Given the description of an element on the screen output the (x, y) to click on. 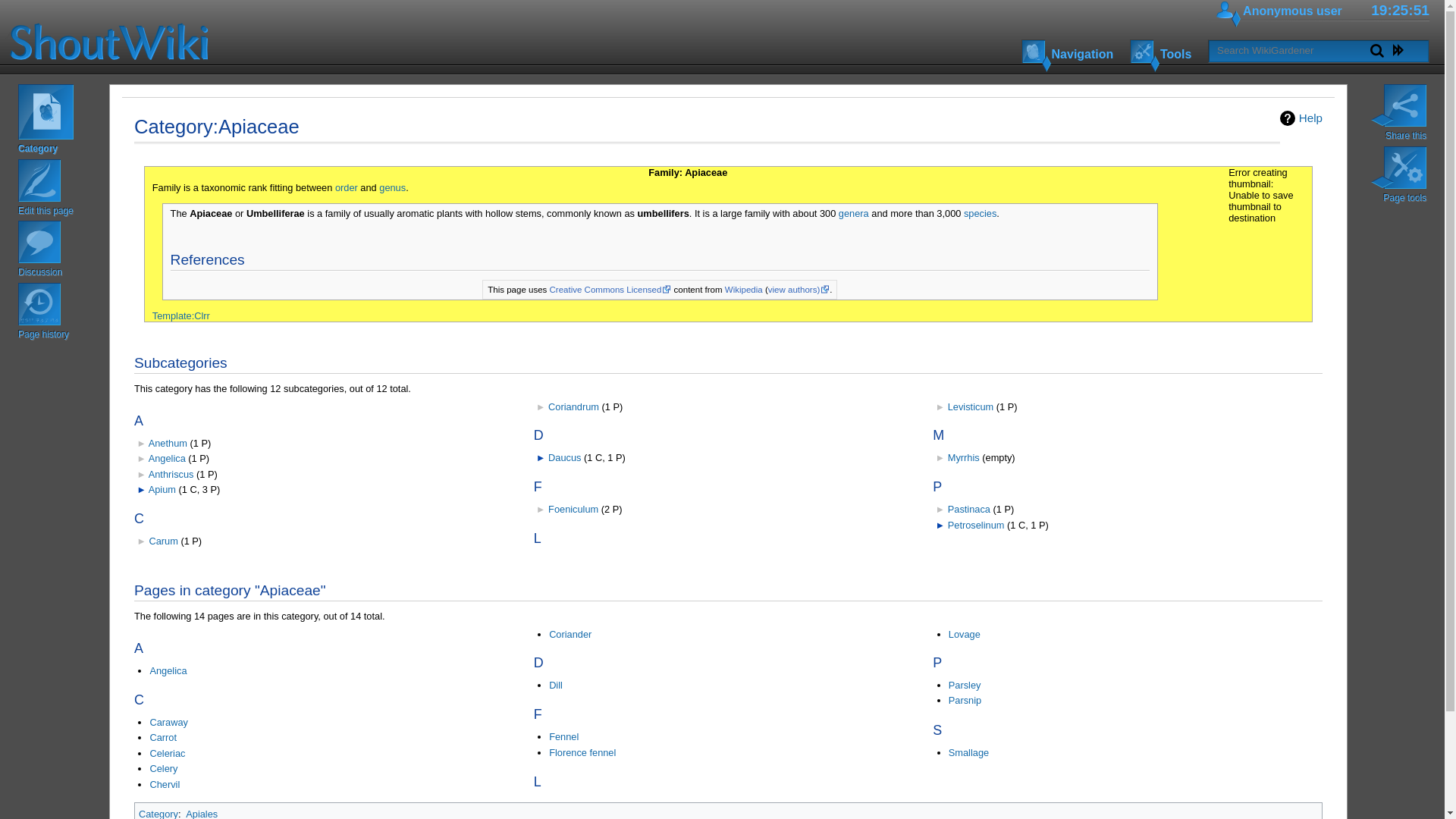
Help (1300, 118)
Wikipedia (743, 289)
Search the pages for this text (1377, 50)
Anethum (167, 442)
19:25:51 (1400, 10)
order (346, 187)
Angelica (167, 458)
Creative Commons Licensed (610, 289)
Edit this page (60, 189)
